Given the description of an element on the screen output the (x, y) to click on. 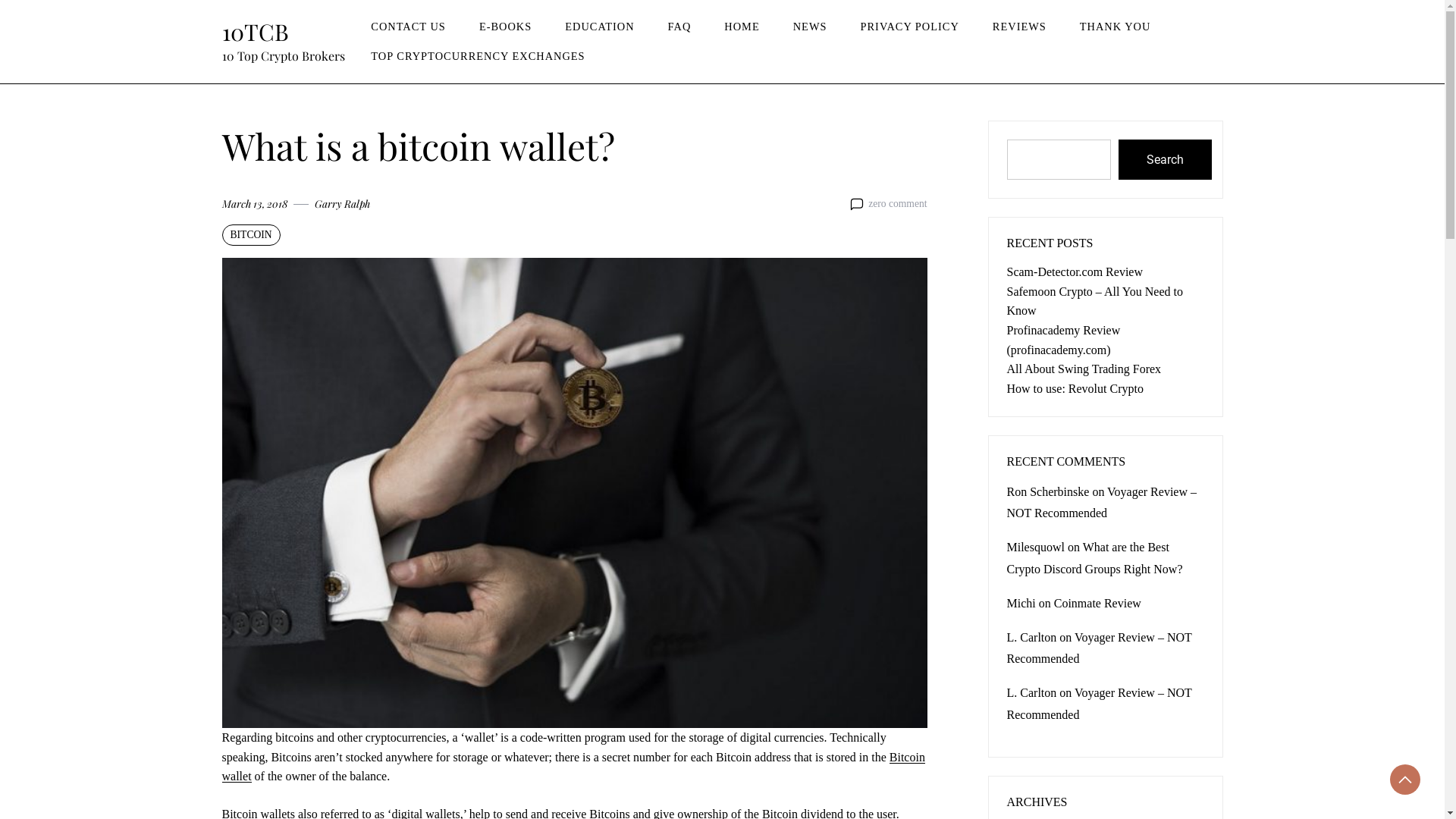
PRIVACY POLICY Element type: text (908, 26)
BITCOIN Element type: text (250, 234)
L. Carlton Element type: text (1032, 692)
E-BOOKS Element type: text (505, 26)
NEWS Element type: text (810, 26)
Scam-Detector.com Review Element type: text (1075, 271)
Bitcoin wallet Element type: text (572, 766)
L. Carlton Element type: text (1032, 636)
zero comment Element type: text (897, 203)
How to use: Revolut Crypto Element type: text (1075, 388)
EDUCATION Element type: text (599, 26)
HOME Element type: text (741, 26)
CONTACT US Element type: text (408, 26)
All About Swing Trading Forex Element type: text (1084, 368)
Search Element type: text (1164, 159)
REVIEWS Element type: text (1019, 26)
THANK YOU Element type: text (1115, 26)
TOP CRYPTOCURRENCY EXCHANGES Element type: text (477, 56)
FAQ Element type: text (679, 26)
Coinmate Review Element type: text (1097, 602)
10TCB Element type: text (254, 31)
March 13, 2018 Element type: text (253, 203)
What are the Best Crypto Discord Groups Right Now? Element type: text (1095, 557)
Profinacademy Review (profinacademy.com) Element type: text (1063, 339)
Garry Ralph Element type: text (341, 203)
